Given the description of an element on the screen output the (x, y) to click on. 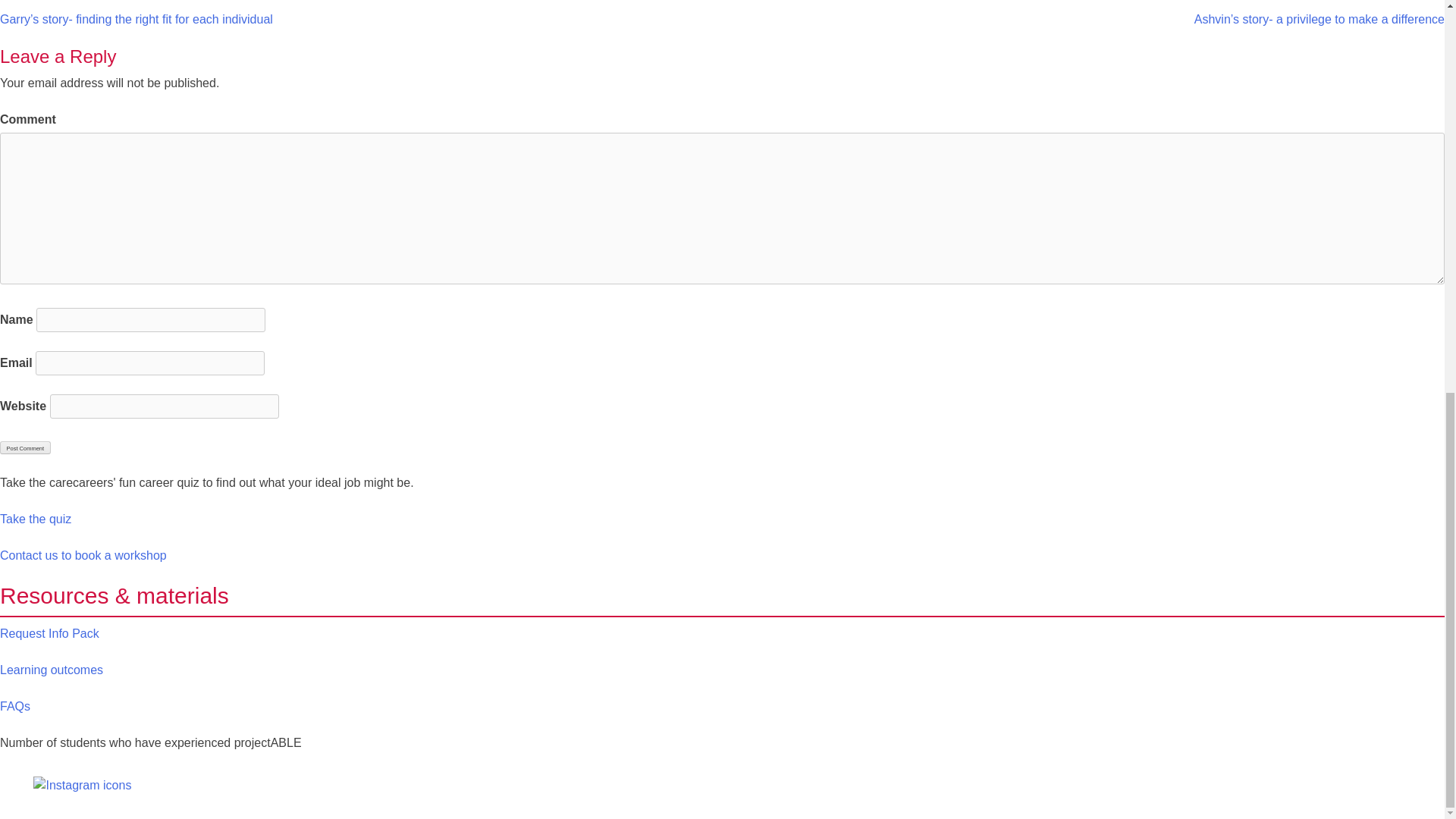
FAQs (15, 706)
Post Comment (25, 447)
Request Info Pack (49, 633)
Take the quiz (35, 518)
Post Comment (25, 447)
Contact us to book a workshop (83, 554)
Learning outcomes (51, 669)
